Given the description of an element on the screen output the (x, y) to click on. 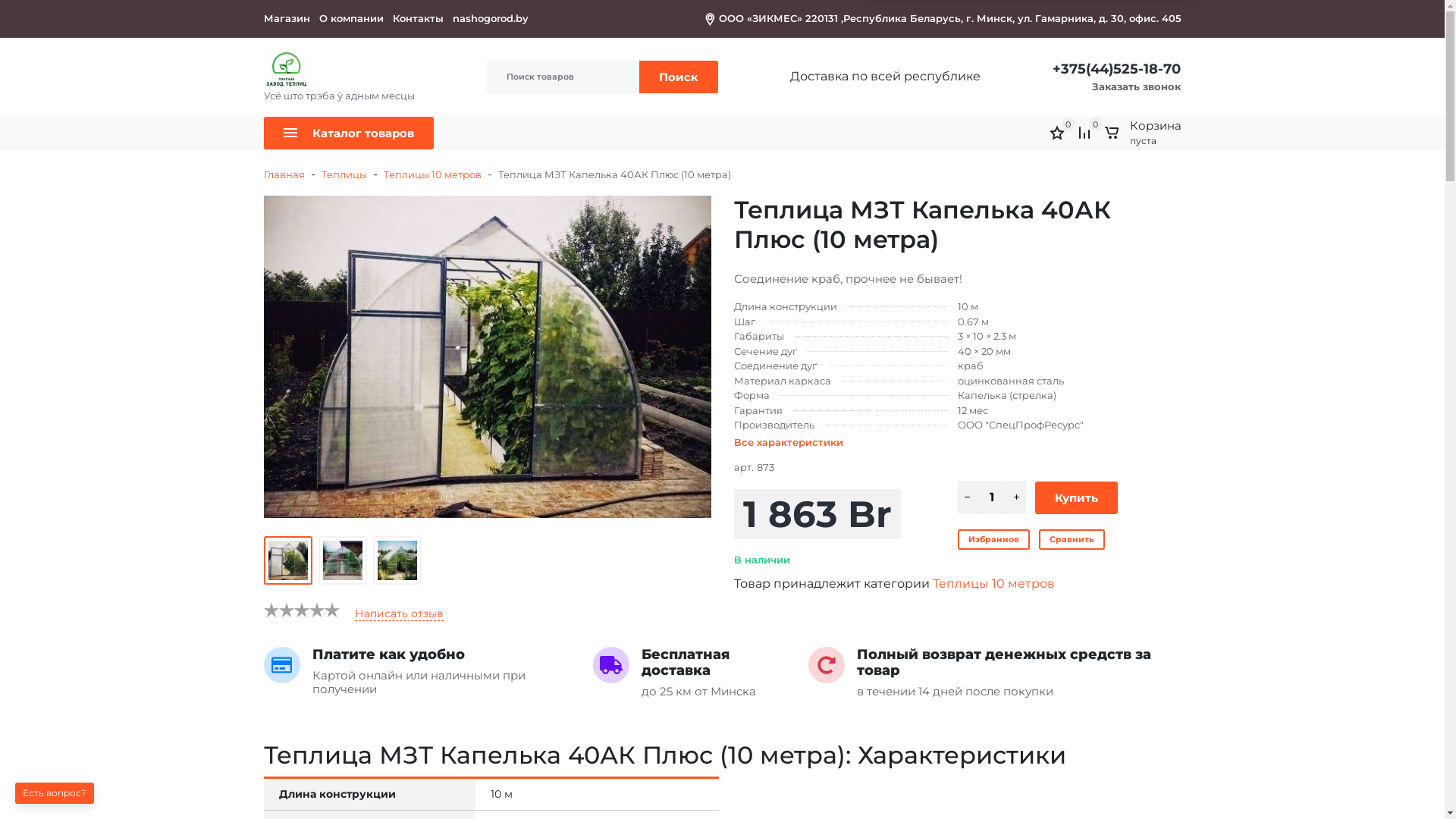
+375(44)525-18-70 Element type: text (1116, 69)
nashogorod.by Element type: text (493, 18)
